Given the description of an element on the screen output the (x, y) to click on. 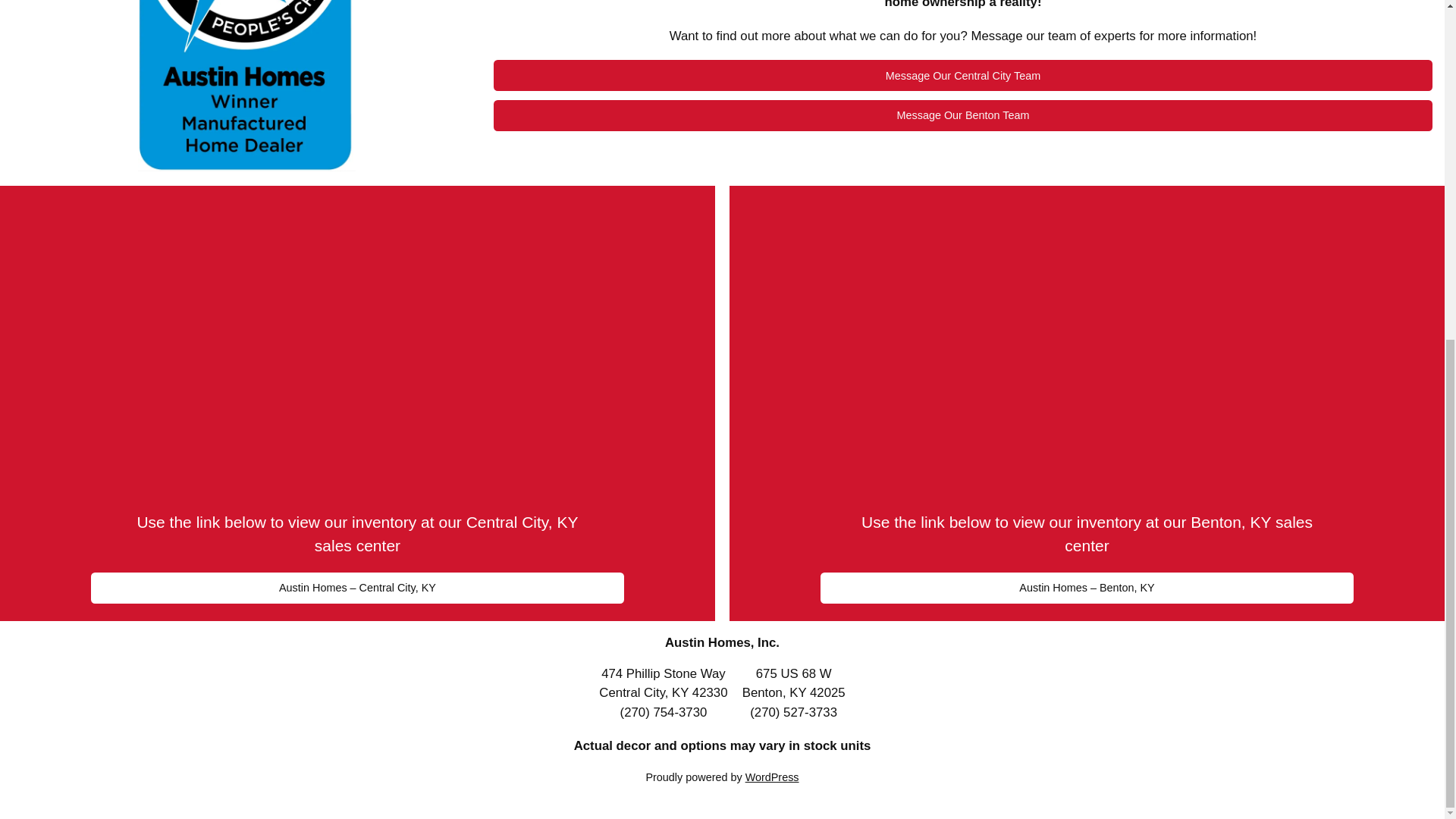
WordPress (772, 776)
Austin Homes, Inc. (721, 642)
Message Our Benton Team (962, 115)
Message Our Central City Team (962, 75)
